Given the description of an element on the screen output the (x, y) to click on. 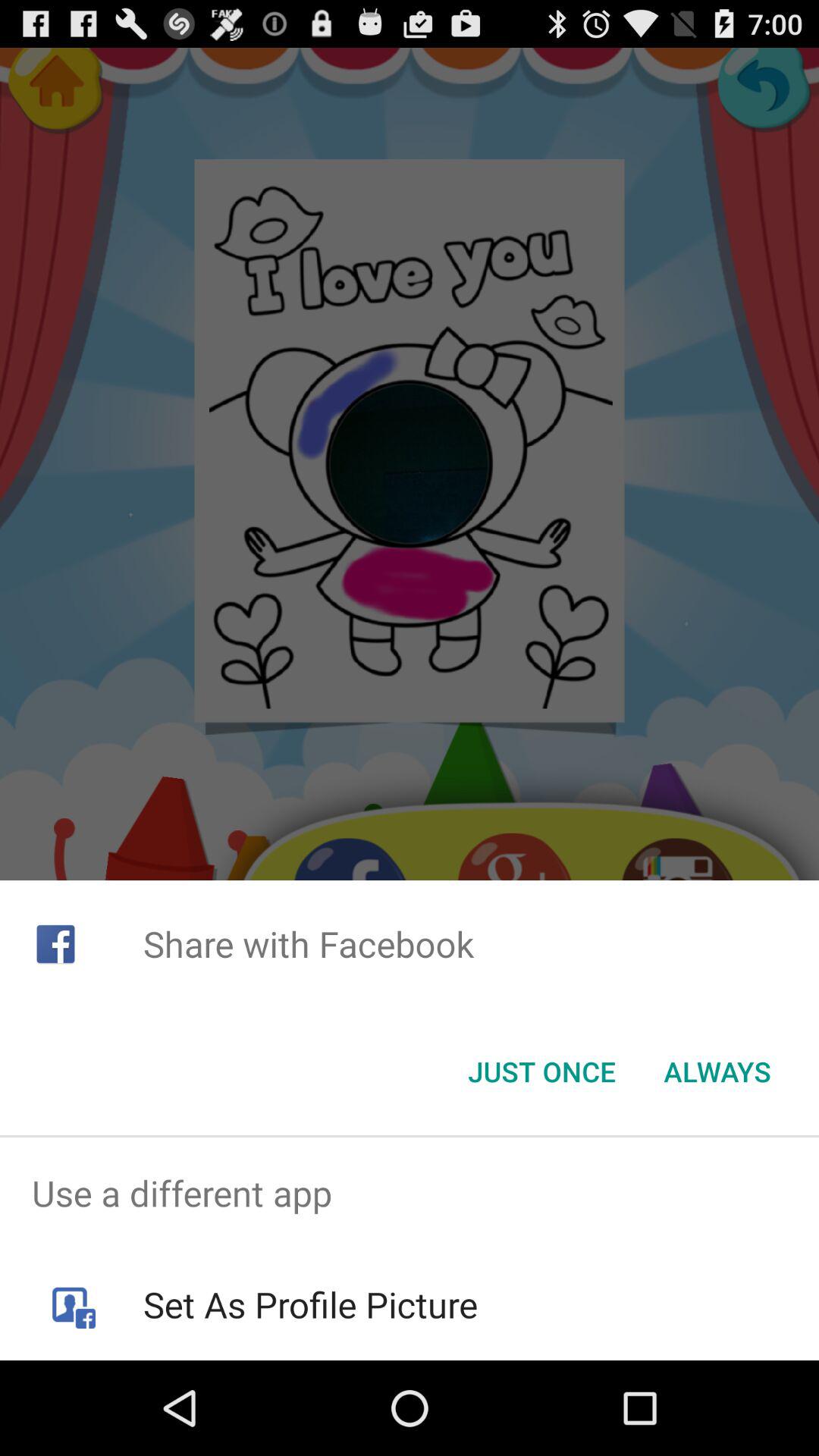
click the item at the bottom right corner (717, 1071)
